Given the description of an element on the screen output the (x, y) to click on. 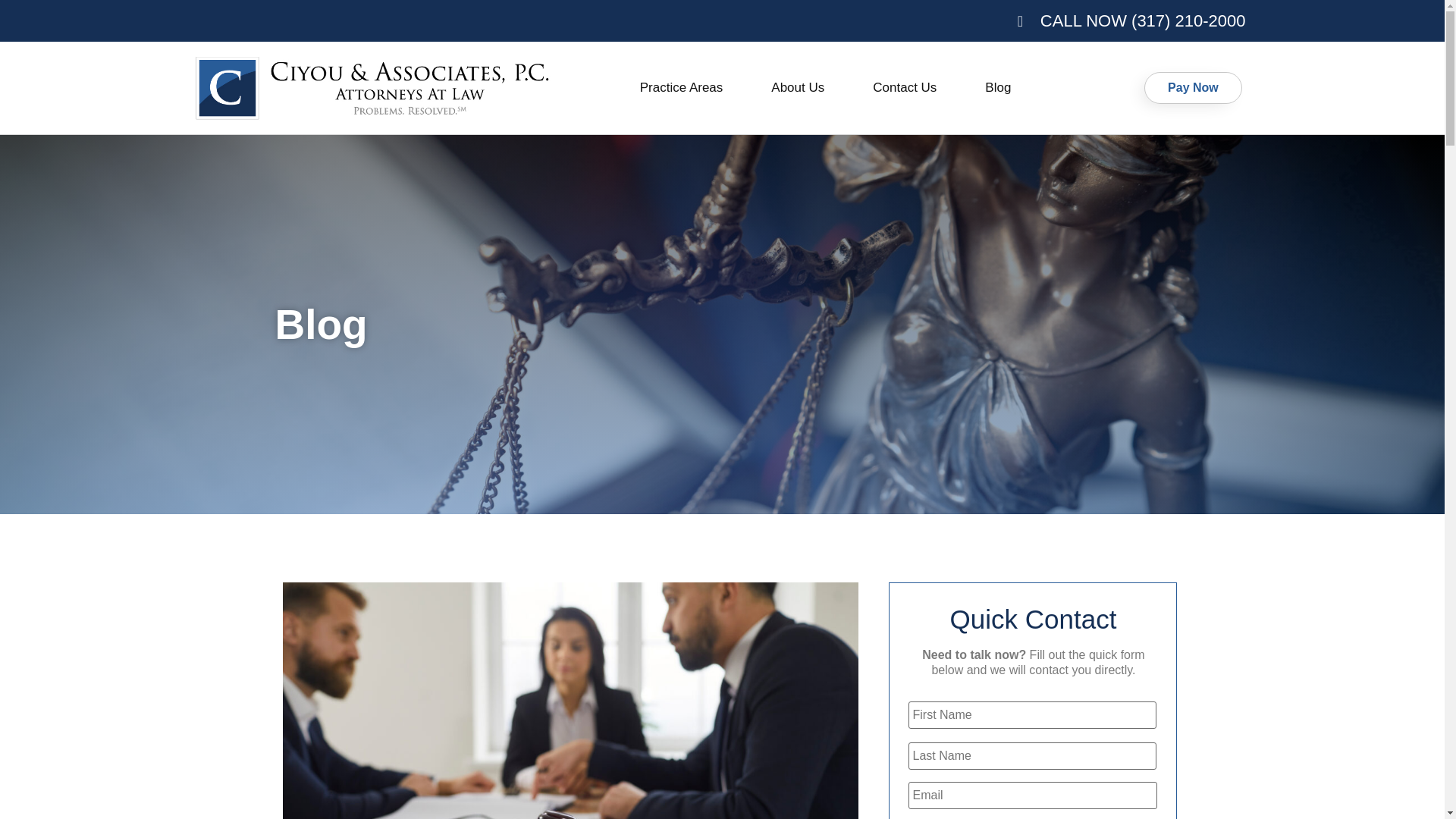
Blog (996, 87)
Contact Us (907, 87)
Pay Now (1192, 88)
About Us (801, 87)
Practice Areas (685, 87)
